Given the description of an element on the screen output the (x, y) to click on. 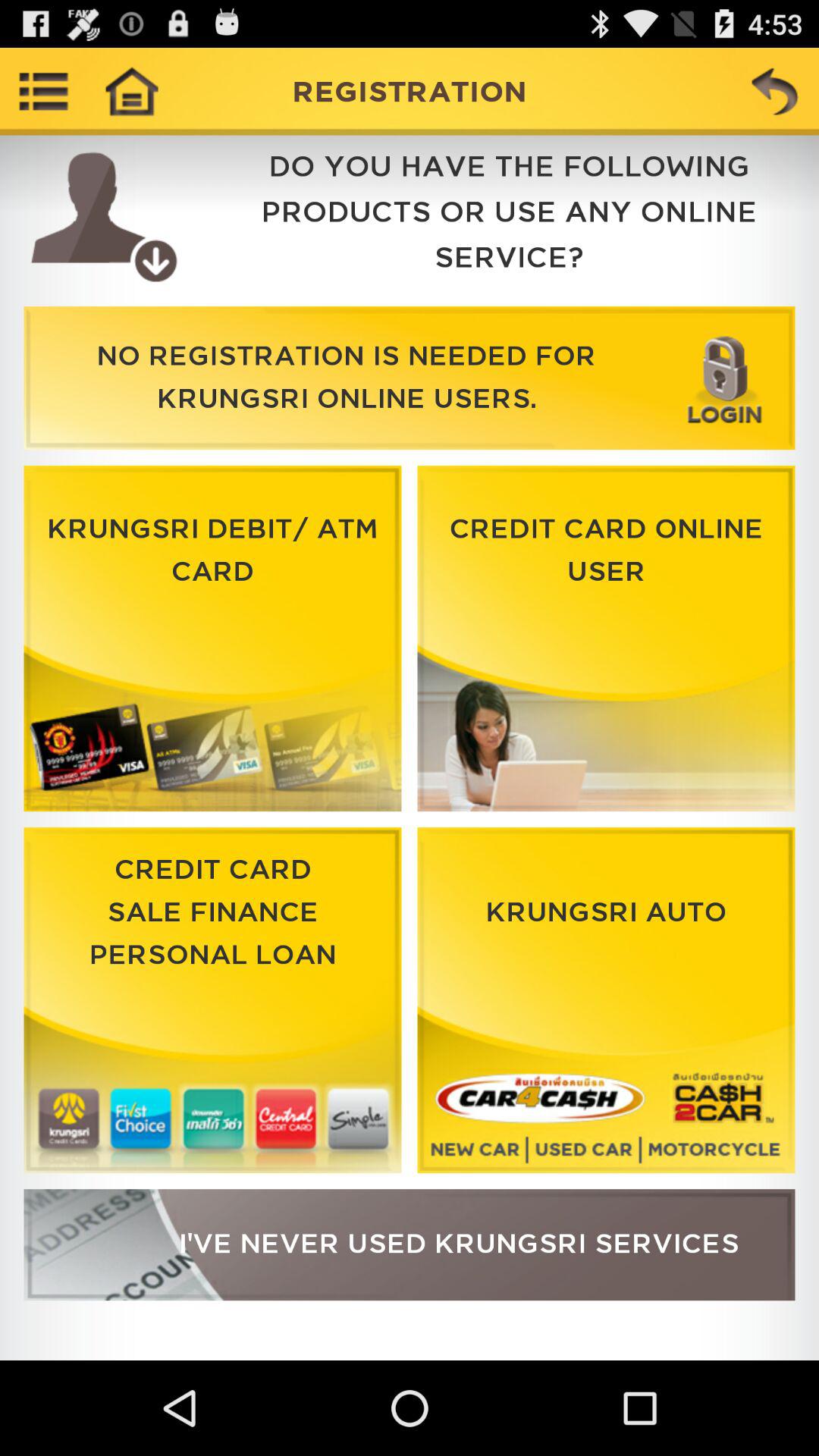
go to home page (131, 91)
